Given the description of an element on the screen output the (x, y) to click on. 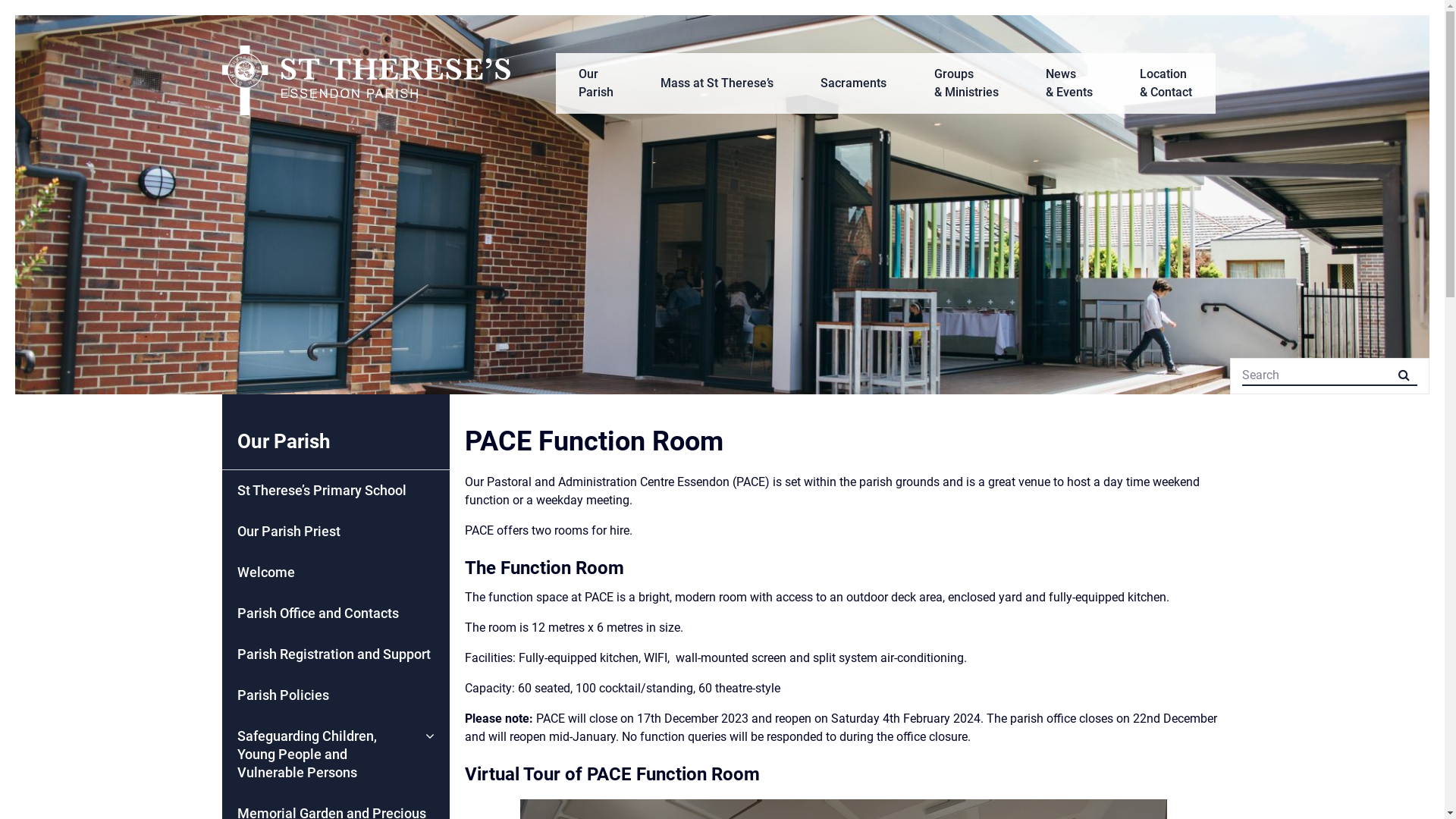
Safeguarding Children, Young People and Vulnerable Persons Element type: text (334, 754)
Location
& Contact Element type: text (1165, 83)
Welcome Element type: text (334, 572)
Our Parish Element type: text (334, 441)
Groups
& Ministries Element type: text (966, 83)
Our
Parish Element type: text (594, 83)
News
& Events Element type: text (1068, 83)
Our Parish Priest Element type: text (334, 531)
Sacraments Element type: text (853, 83)
Parish Office and Contacts Element type: text (334, 613)
Parish Registration and Support Element type: text (334, 653)
Parish Policies Element type: text (334, 694)
Submit Element type: text (19, 7)
